Given the description of an element on the screen output the (x, y) to click on. 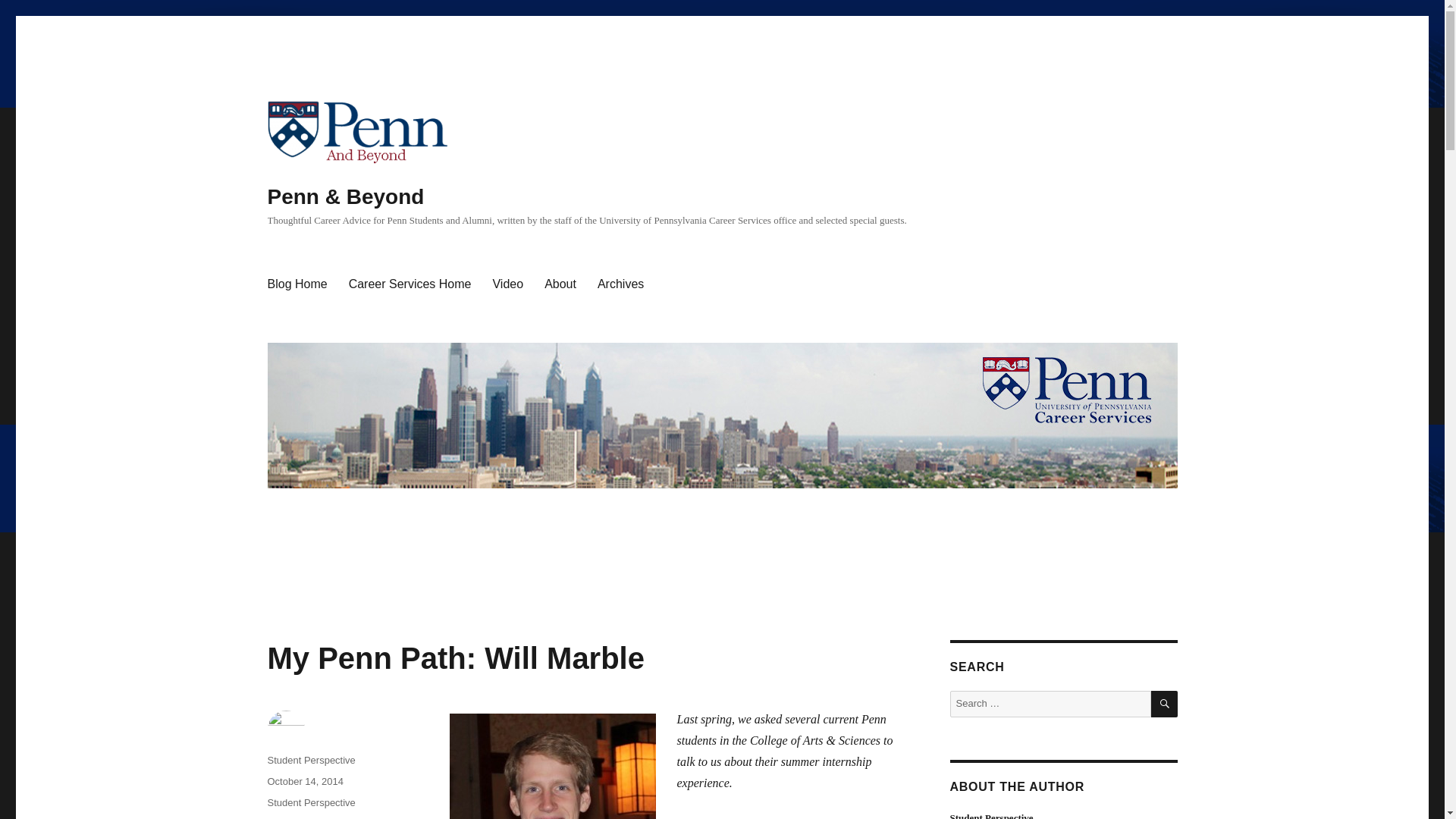
October 14, 2014 (304, 781)
Student Perspective (310, 802)
About (560, 284)
Archives (619, 284)
Career Services Home (409, 284)
Video (507, 284)
Student Perspective (310, 759)
Blog Home (296, 284)
